Given the description of an element on the screen output the (x, y) to click on. 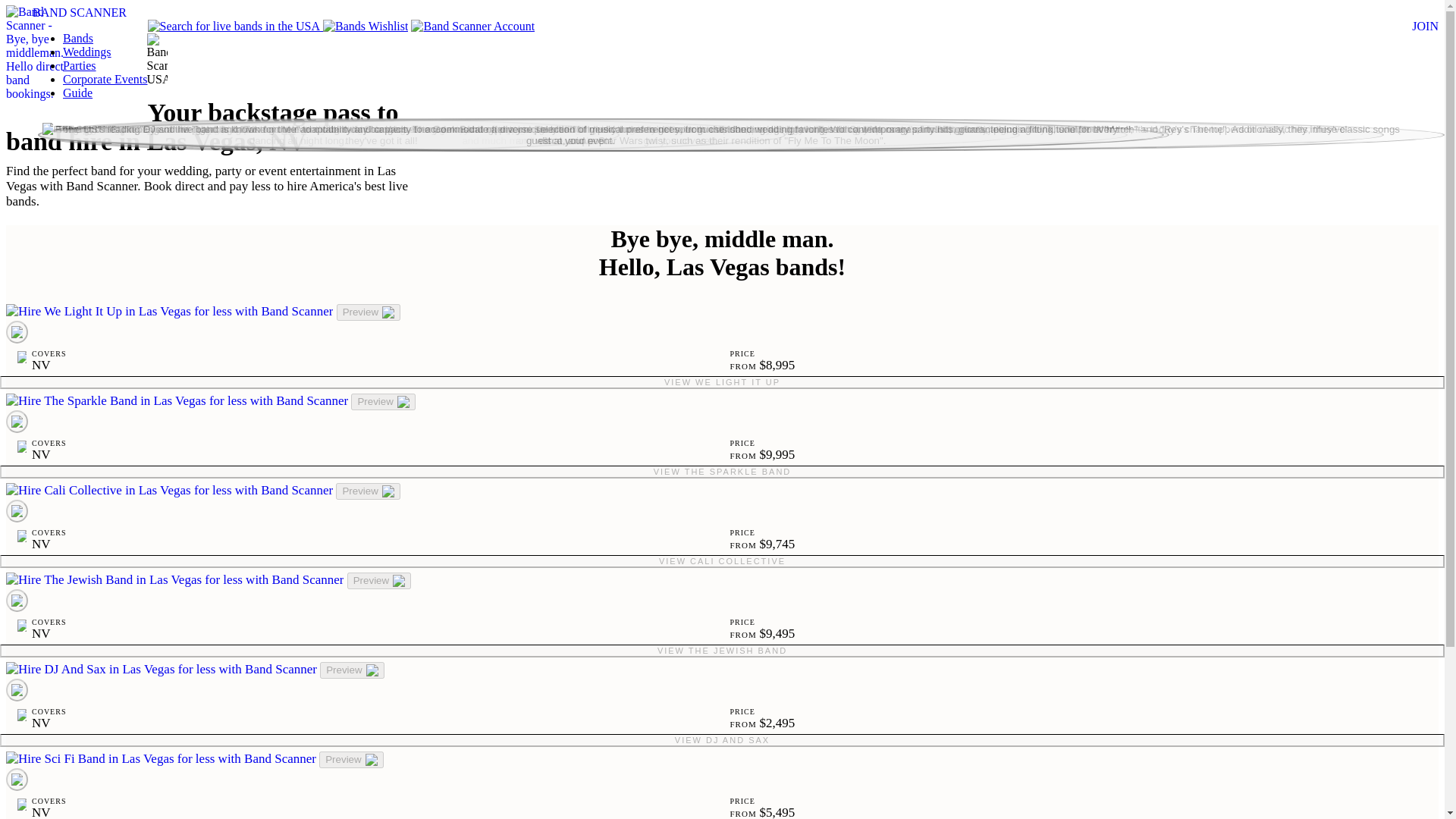
Preview (352, 669)
Corporate Events (105, 78)
Parties (79, 65)
Preview (382, 401)
Preview (378, 580)
BAND SCANNER (79, 11)
Preview (368, 312)
Bands (77, 38)
Guide (77, 92)
Preview (367, 491)
